Given the description of an element on the screen output the (x, y) to click on. 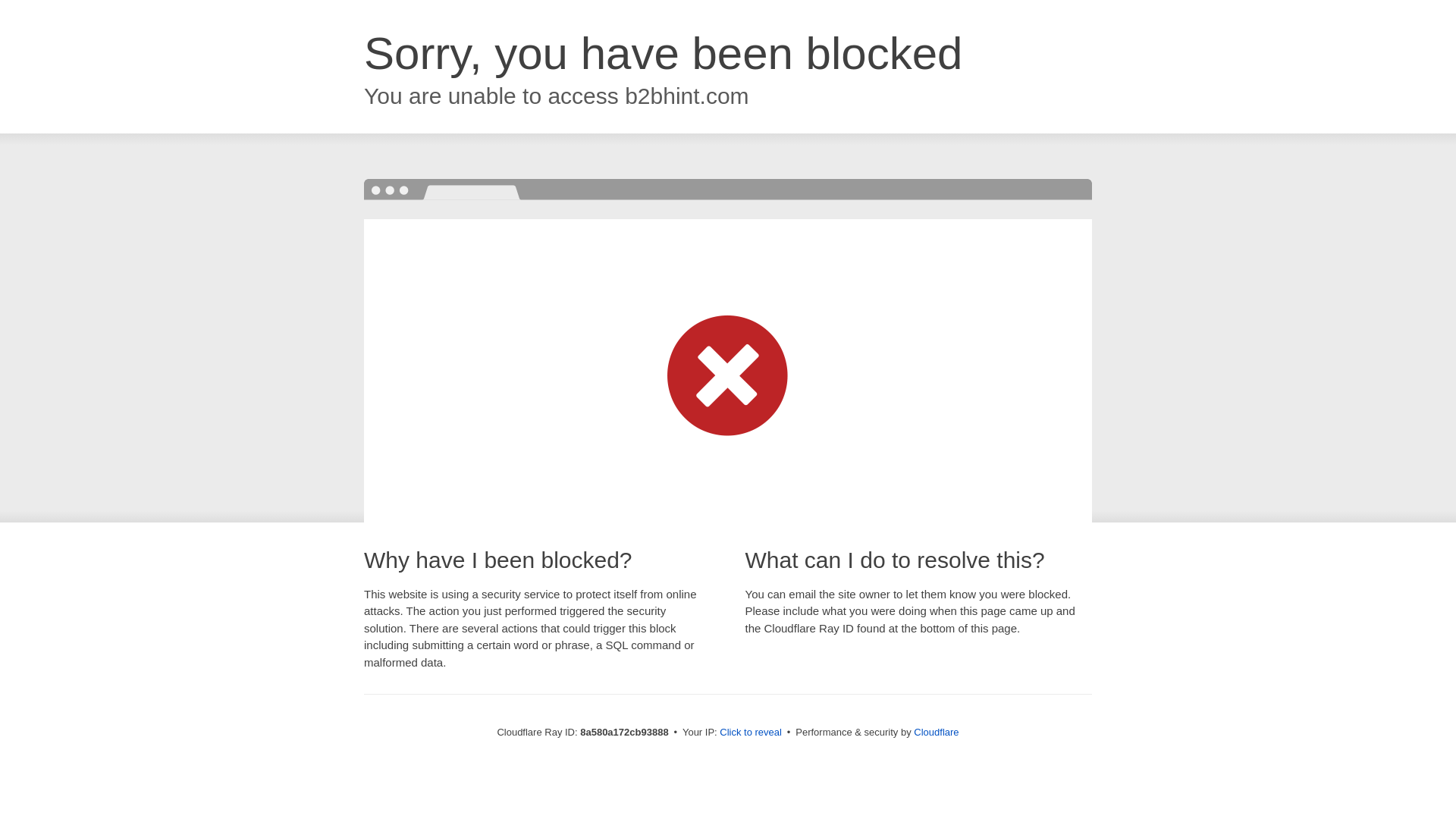
Click to reveal (750, 732)
Cloudflare (936, 731)
